Given the description of an element on the screen output the (x, y) to click on. 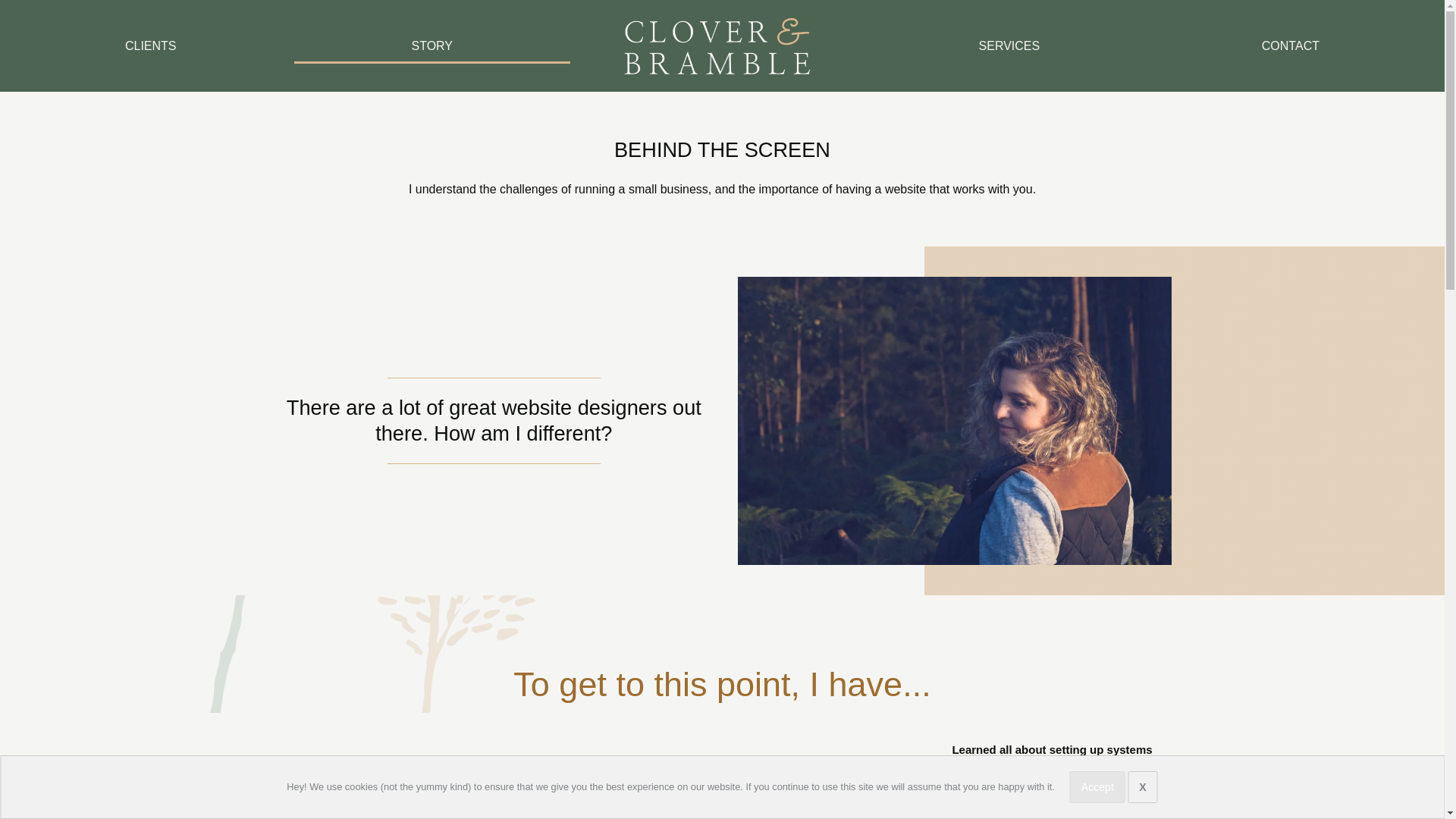
SERVICES (1008, 45)
CLIENTS (150, 45)
STORY (432, 45)
CONTACT (1291, 45)
